Given the description of an element on the screen output the (x, y) to click on. 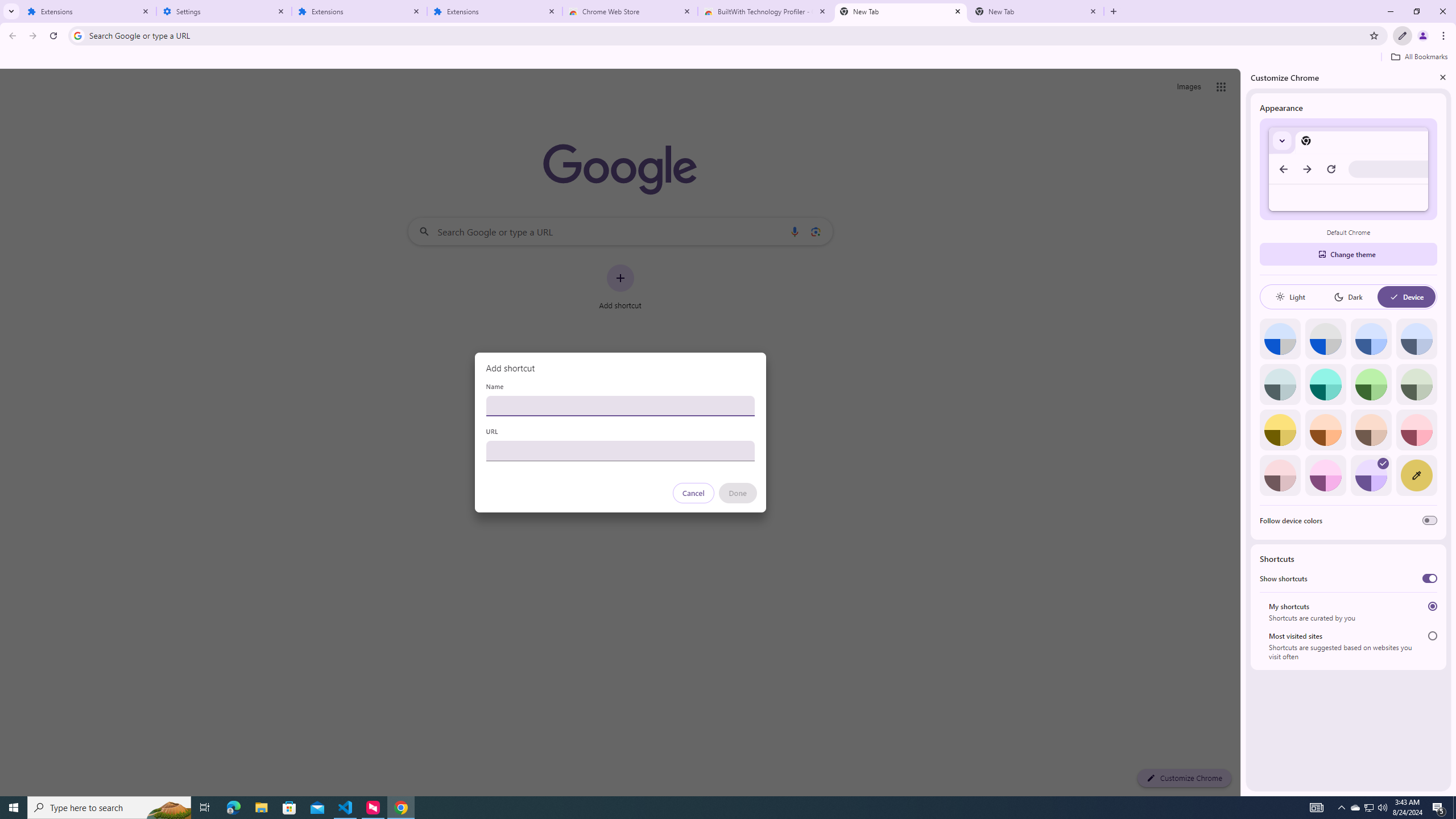
Citron (1279, 429)
Blue (1371, 338)
Extensions (88, 11)
Grey default color (1325, 338)
Show shortcuts (1429, 578)
Customize Chrome (1402, 35)
Name (620, 405)
Green (1371, 383)
Bookmarks (728, 58)
URL (620, 450)
